Given the description of an element on the screen output the (x, y) to click on. 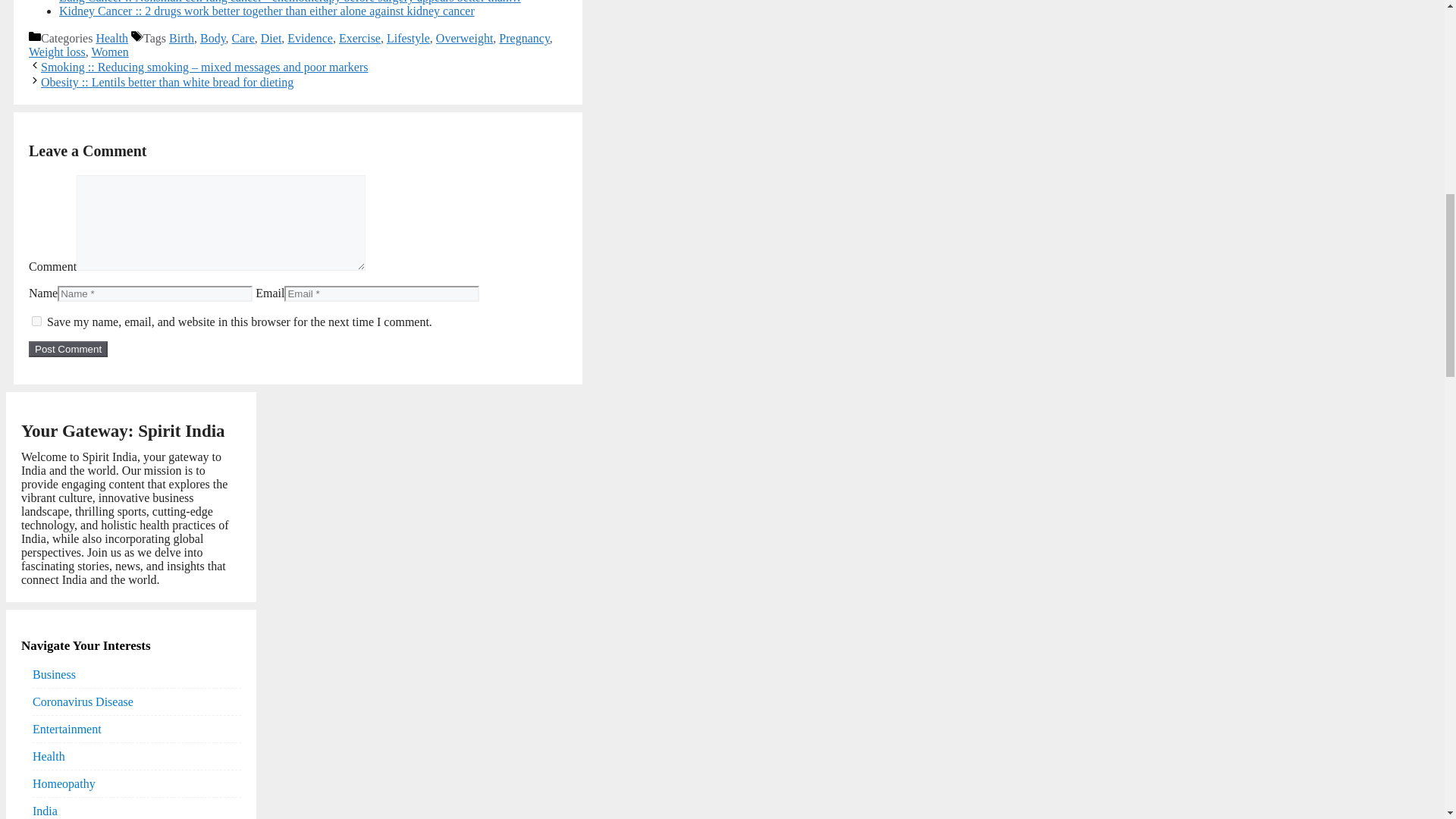
Lifestyle (408, 38)
Body (212, 38)
Coronavirus Disease (82, 701)
Overweight (464, 38)
Post Comment (68, 349)
Care (242, 38)
Pregnancy (524, 38)
Birth (180, 38)
Evidence (309, 38)
